Given the description of an element on the screen output the (x, y) to click on. 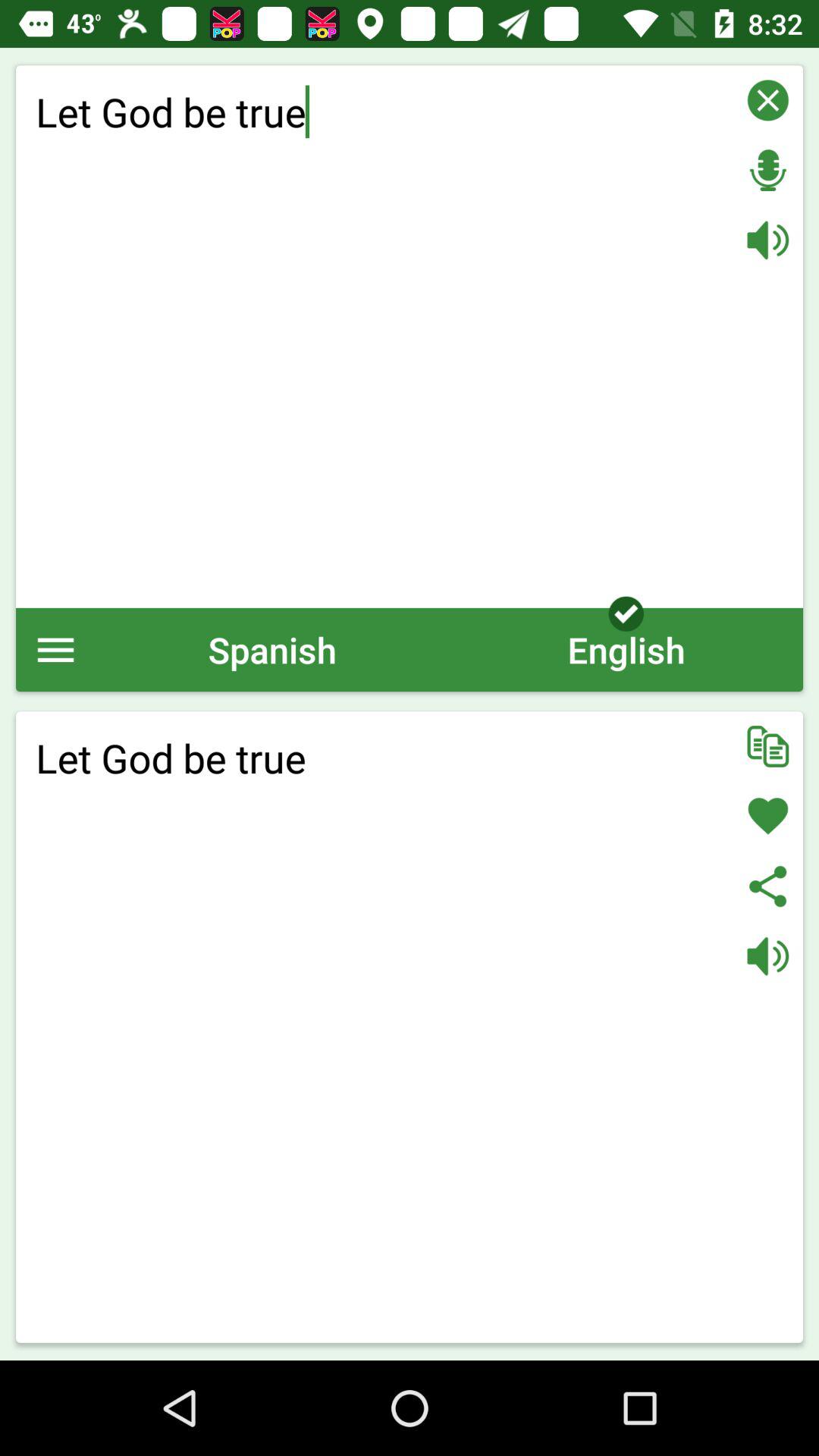
share the translation (768, 886)
